Given the description of an element on the screen output the (x, y) to click on. 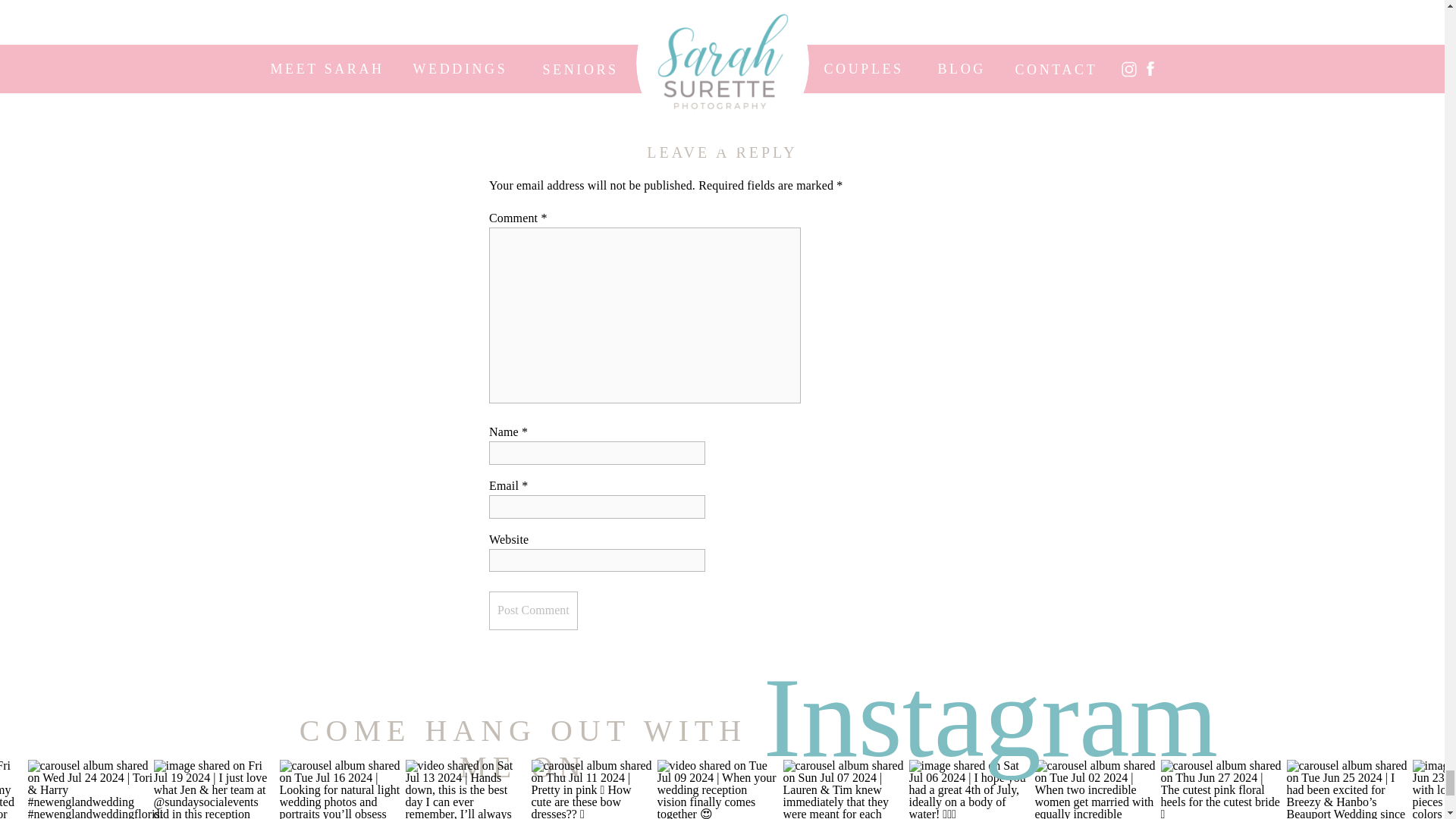
Post Comment (533, 610)
Post Comment (533, 610)
Reply (518, 67)
